Given the description of an element on the screen output the (x, y) to click on. 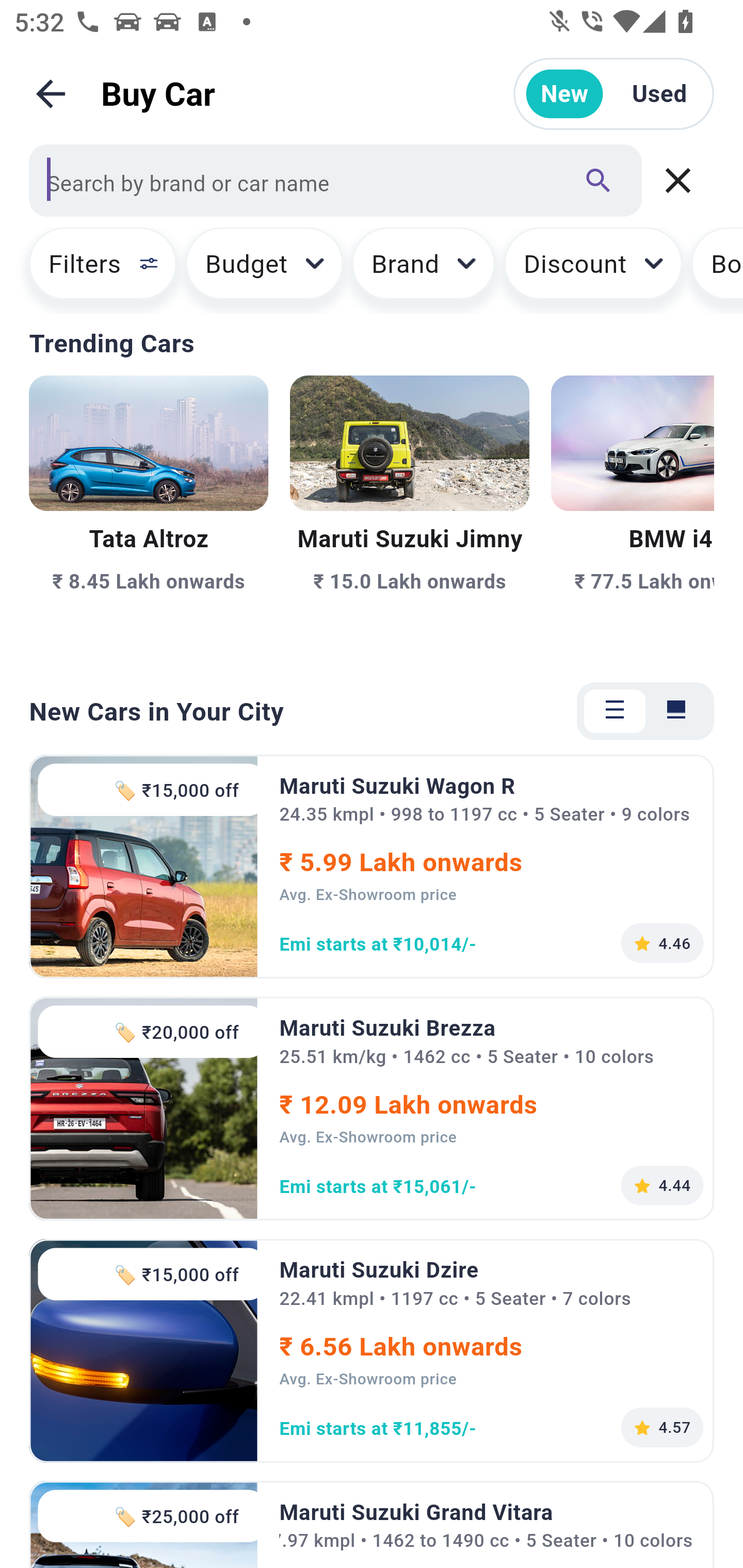
Back (50, 93)
New (564, 93)
Used (659, 93)
Filters (93, 270)
Budget (264, 270)
Brand (423, 270)
Discount (592, 270)
₹ 8.45 Lakh onwards Tata Altroz (148, 515)
₹ 15.0 Lakh onwards Maruti Suzuki Jimny (409, 515)
₹ 77.5 Lakh onwards BMW i4 (632, 515)
Tab 1 of 2 (614, 710)
Tab 2 of 2 (675, 710)
